Given the description of an element on the screen output the (x, y) to click on. 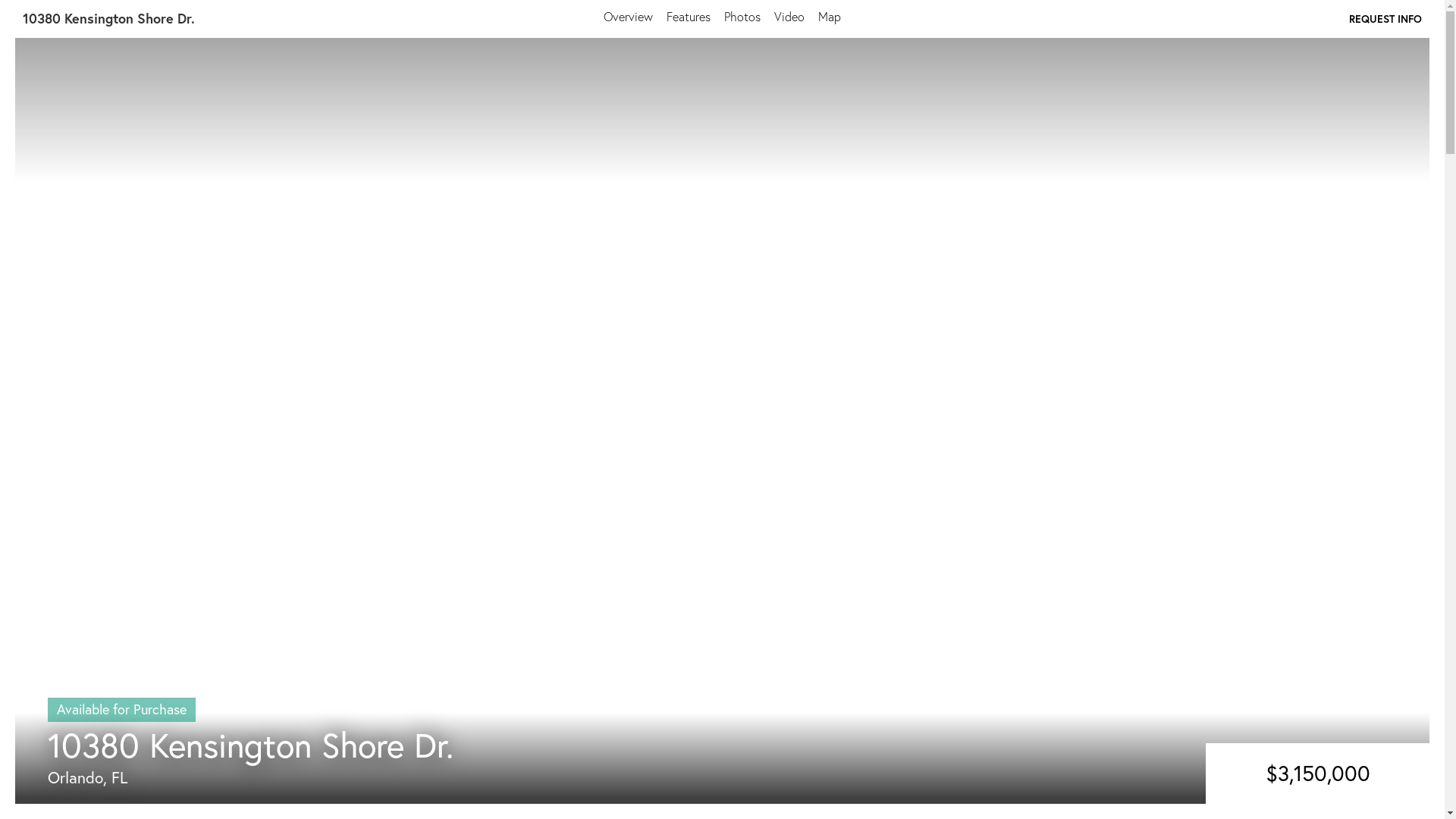
Overview Element type: text (627, 16)
REQUEST INFO Element type: text (1385, 18)
Photos Element type: text (742, 16)
Video Element type: text (789, 16)
Map Element type: text (829, 16)
Features Element type: text (688, 16)
